Given the description of an element on the screen output the (x, y) to click on. 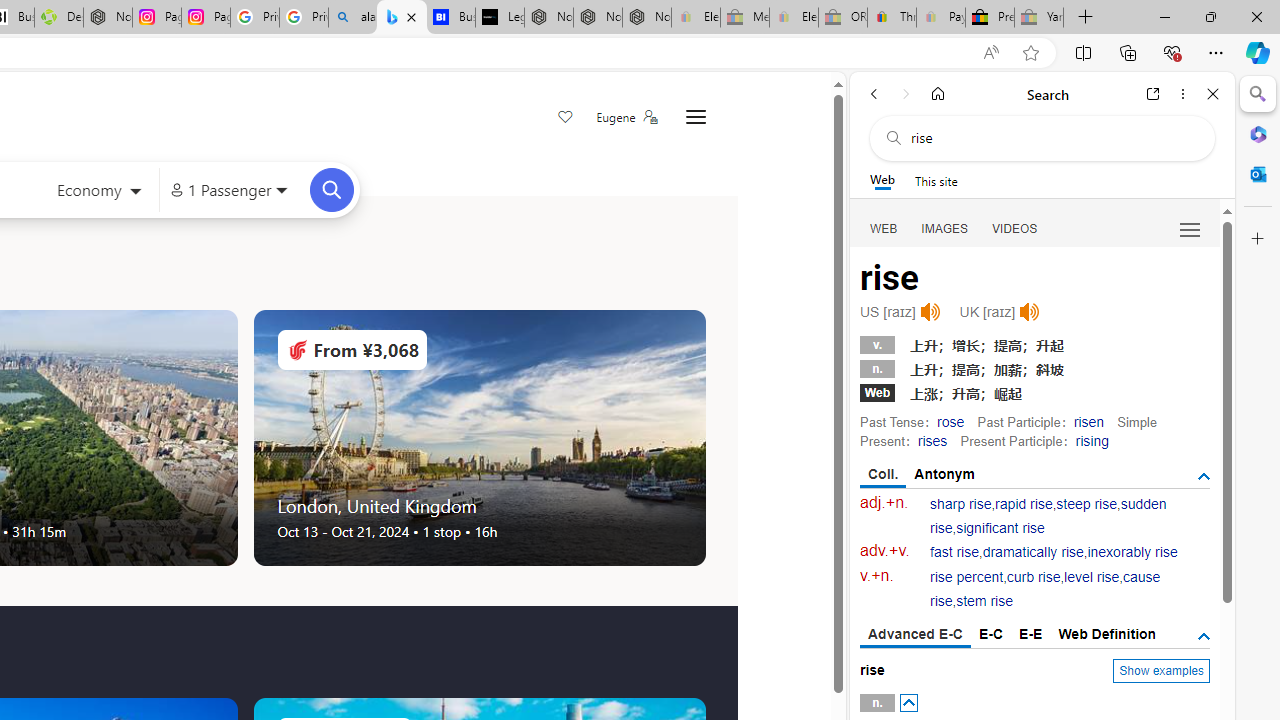
Yard, Garden & Outdoor Living - Sleeping (1039, 17)
Descarga Driver Updater (58, 17)
AutomationID: tgdef (1203, 636)
Microsoft Bing Travel - Flights (401, 17)
rose (950, 421)
Open link in new tab (1153, 93)
Click to listen (1029, 312)
Select class of service (98, 192)
Web Definition (1106, 633)
